Given the description of an element on the screen output the (x, y) to click on. 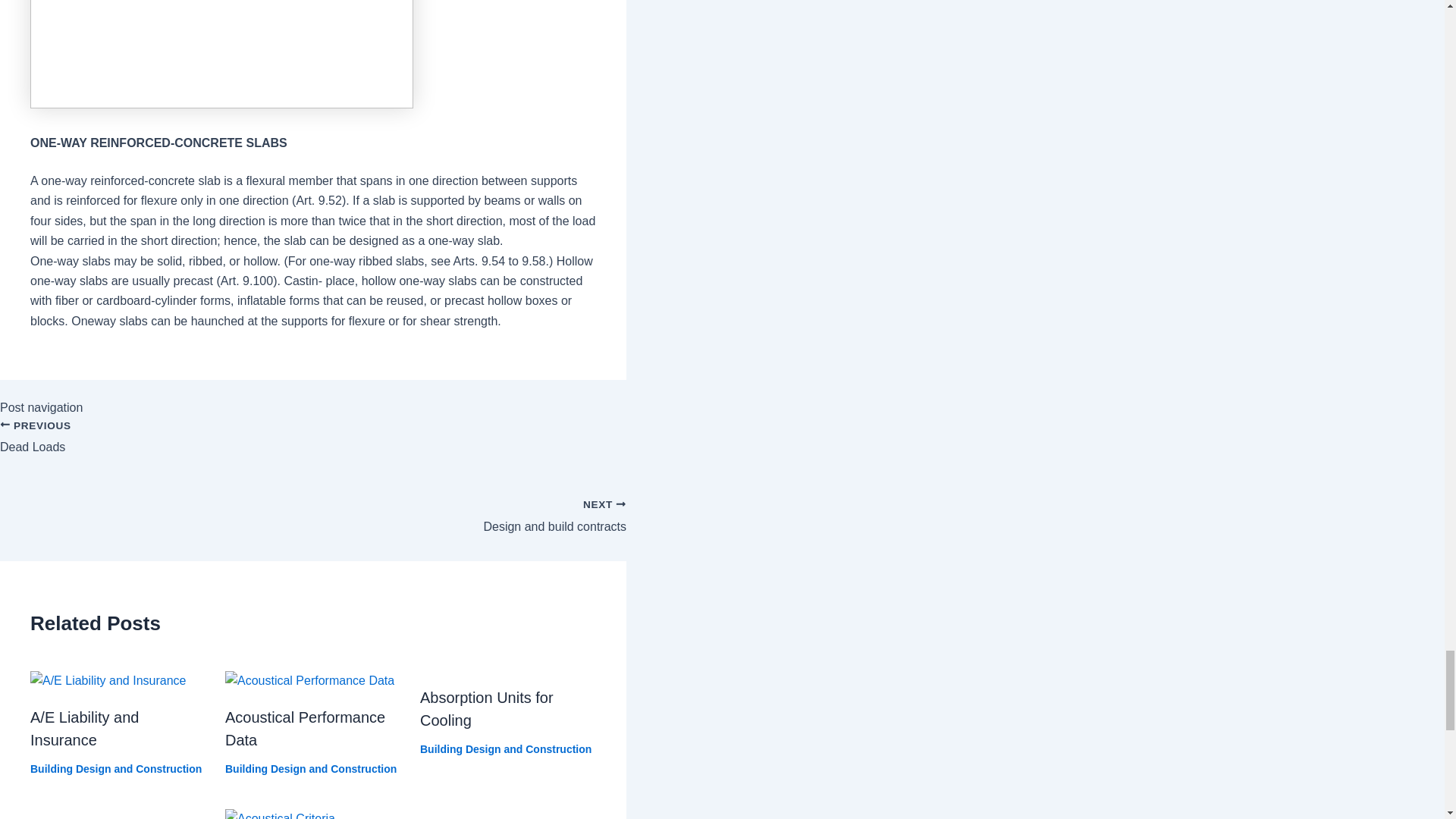
Design and build contracts (313, 508)
Dead Loads (313, 446)
